Given the description of an element on the screen output the (x, y) to click on. 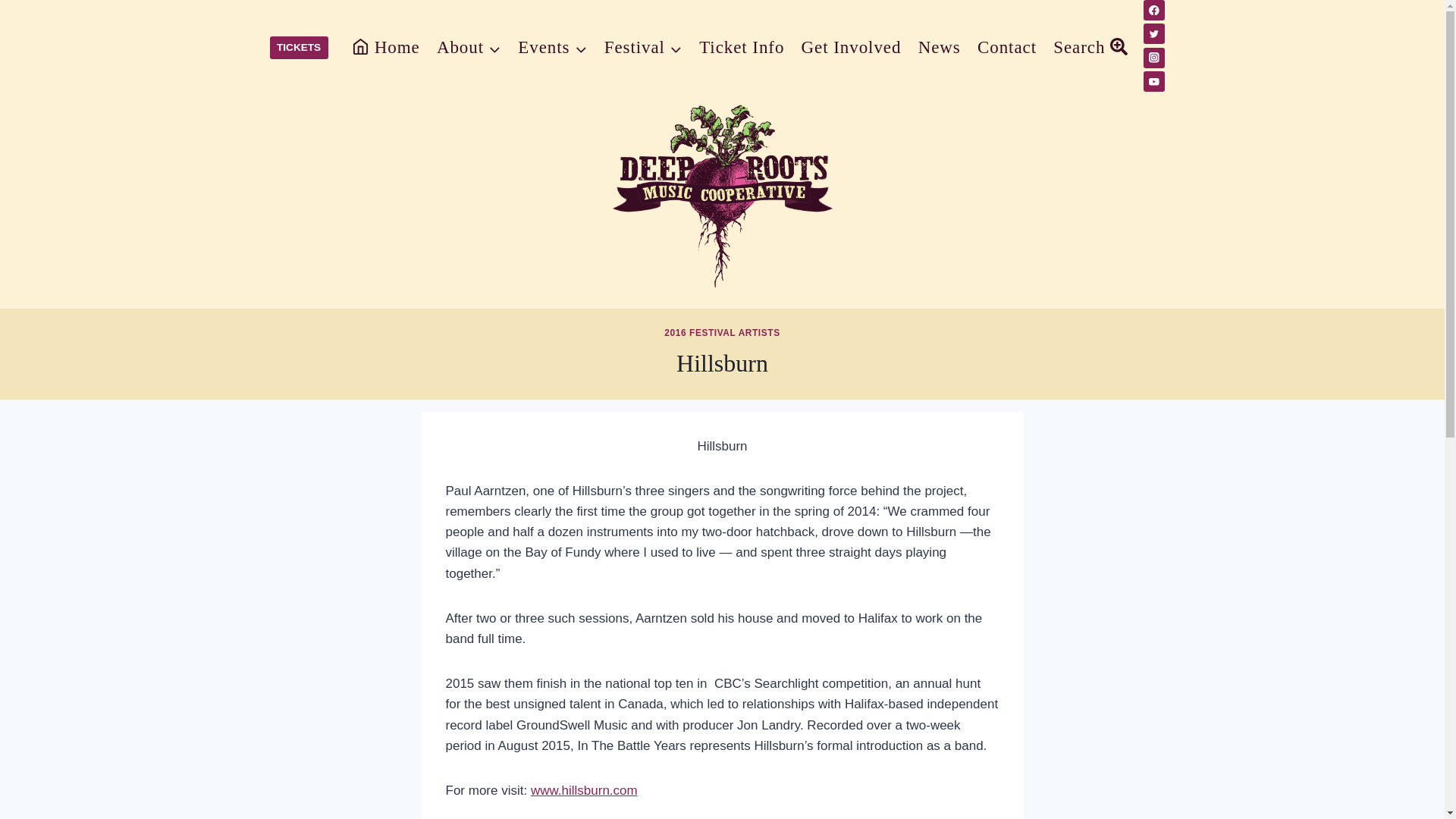
Home (385, 48)
Search (1090, 48)
News (939, 48)
About (468, 48)
Festival (642, 48)
Ticket Info (741, 48)
TICKETS (299, 47)
Get Involved (850, 48)
Contact (1007, 48)
Events (552, 48)
